Given the description of an element on the screen output the (x, y) to click on. 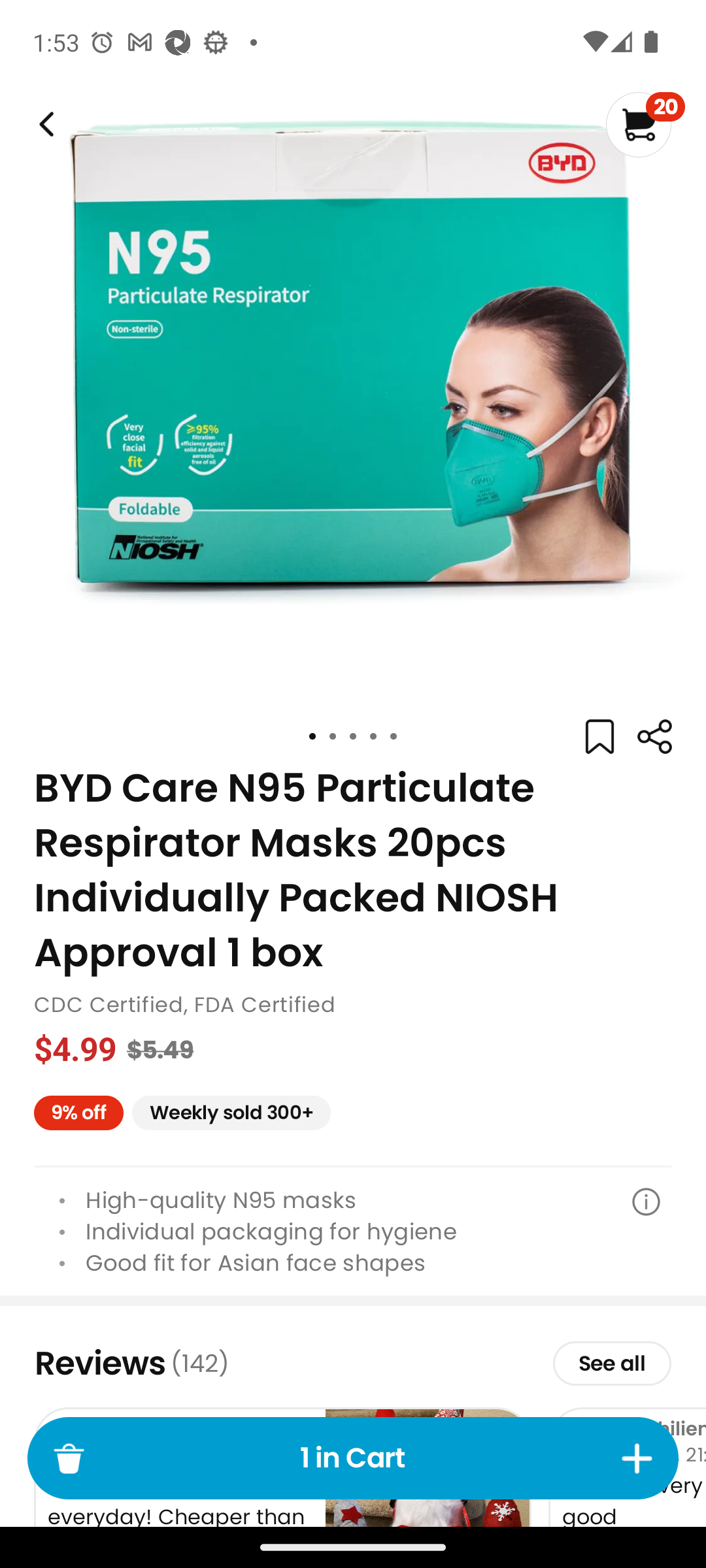
20 (644, 124)
Weee! (45, 124)
Weee! (653, 736)
Reviews (142) See all (353, 1363)
1 in Cart (352, 1458)
